Given the description of an element on the screen output the (x, y) to click on. 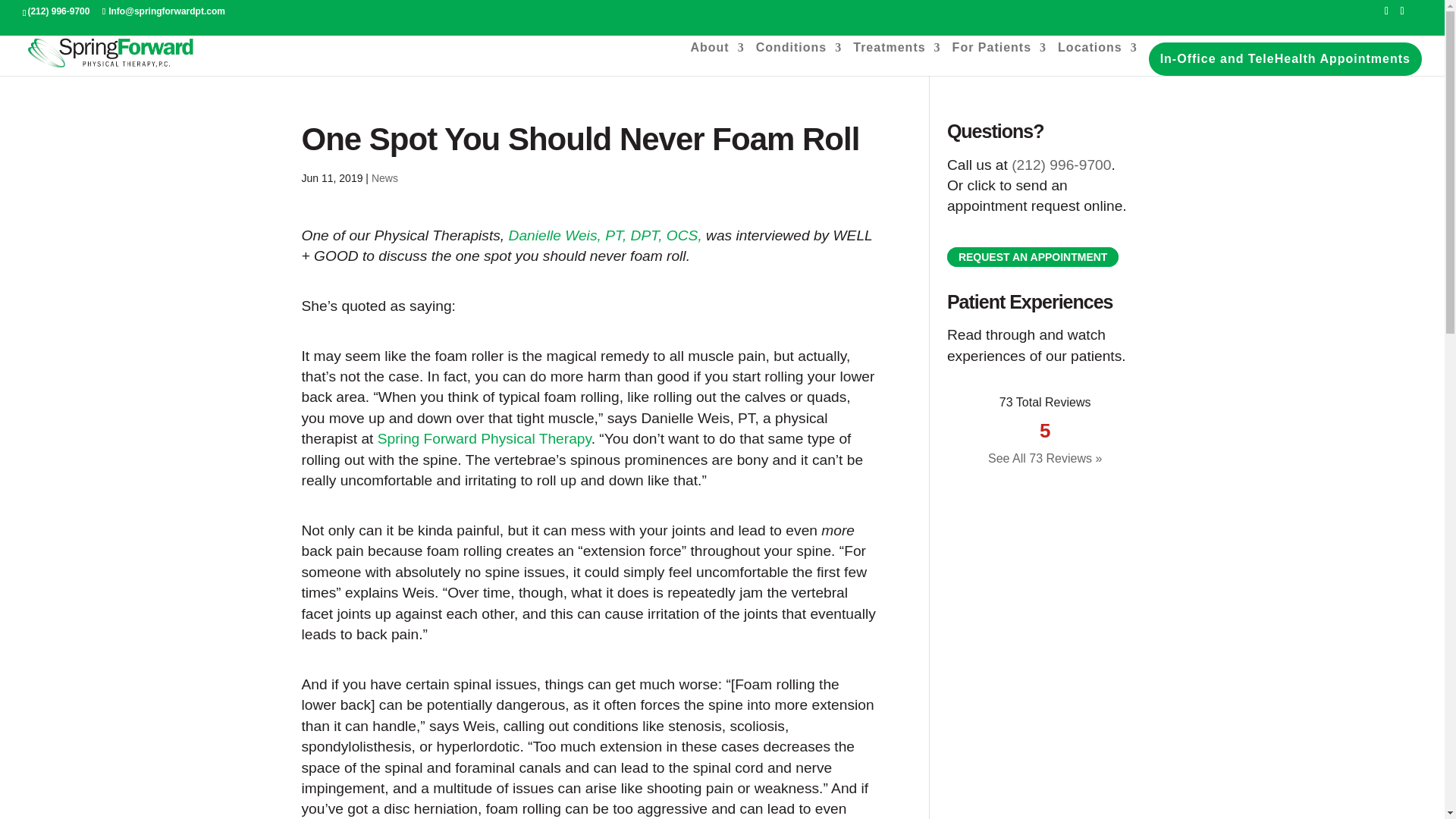
About (717, 56)
Conditions (799, 56)
